Given the description of an element on the screen output the (x, y) to click on. 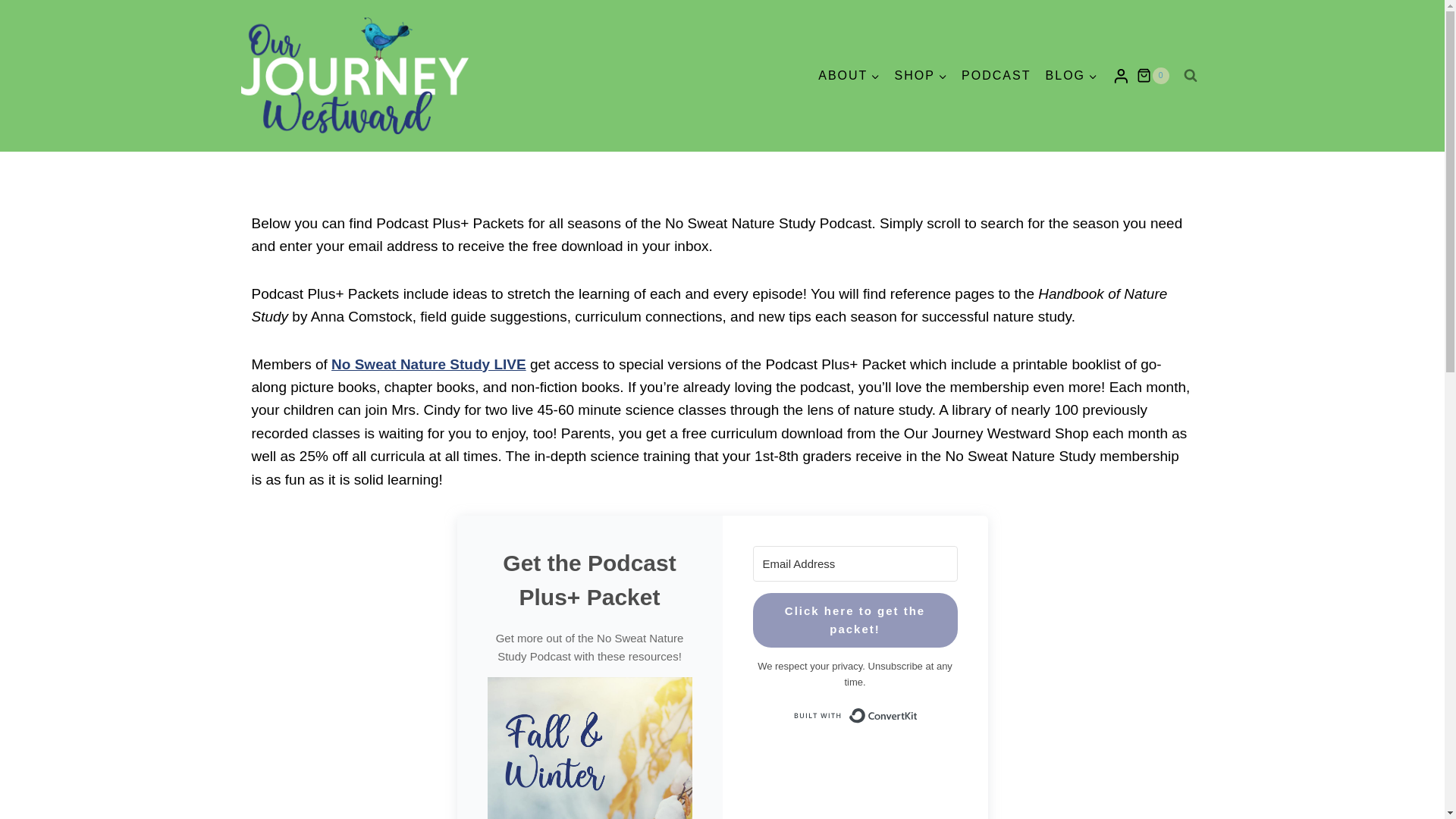
0 (1153, 75)
No Sweat Nature Study LIVE (428, 364)
BLOG (1071, 75)
PODCAST (995, 75)
SHOP (920, 75)
ABOUT (848, 75)
Click here to get the packet! (854, 619)
Built with ConvertKit (854, 715)
